Given the description of an element on the screen output the (x, y) to click on. 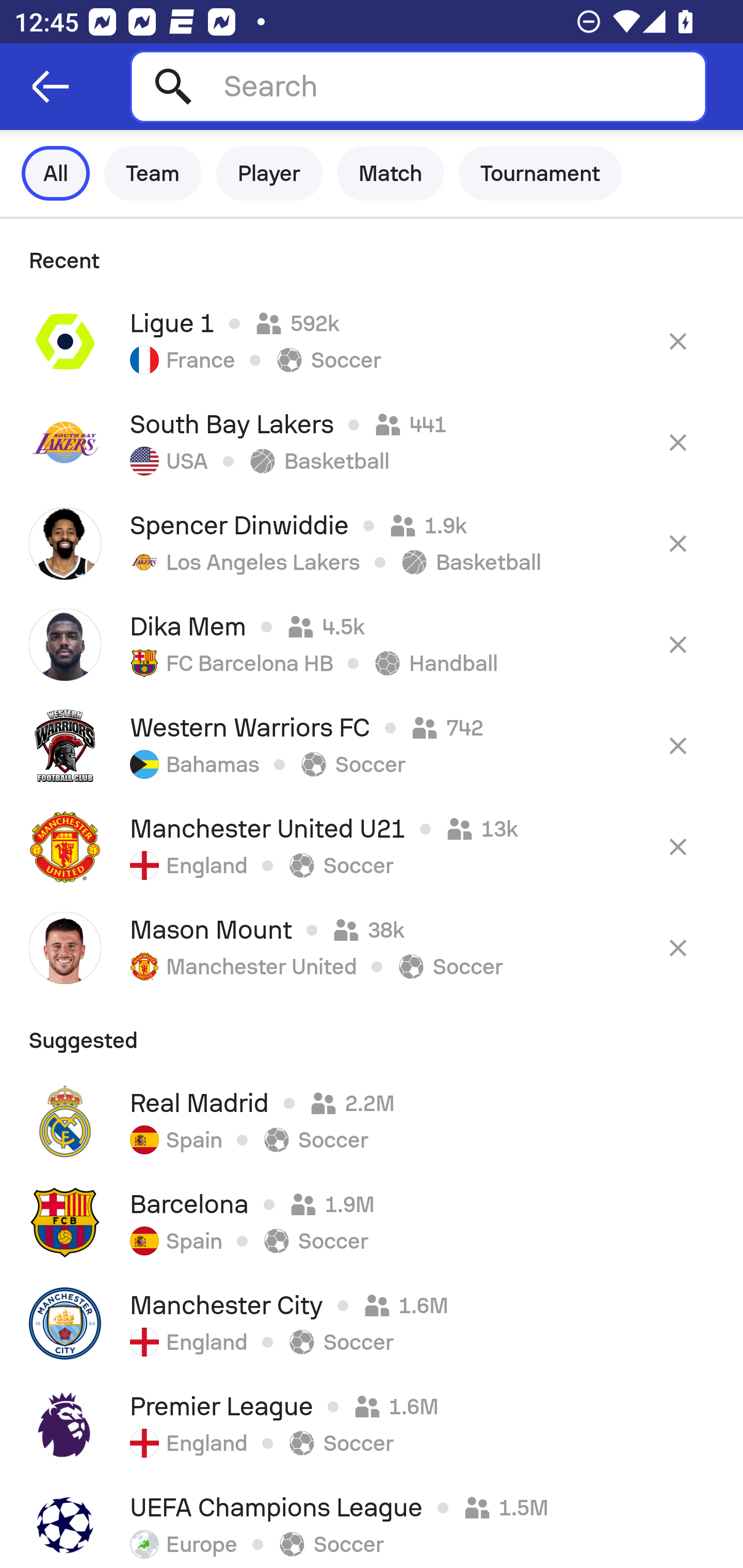
Navigate up (50, 86)
Search (418, 86)
All (55, 172)
Team (152, 172)
Player (268, 172)
Match (390, 172)
Tournament (540, 172)
Recent (371, 254)
Ligue 1 592k France Soccer (371, 341)
South Bay Lakers 441 USA Basketball (371, 442)
Dika Mem 4.5k FC Barcelona HB Handball (371, 644)
Western Warriors FC 742 Bahamas Soccer (371, 745)
Manchester United U21 13k England Soccer (371, 846)
Mason Mount 38k Manchester United Soccer (371, 947)
Suggested (371, 1034)
Real Madrid 2.2M Spain Soccer (371, 1120)
Barcelona 1.9M Spain Soccer (371, 1222)
Manchester City 1.6M England Soccer (371, 1323)
Premier League 1.6M England Soccer (371, 1424)
UEFA Champions League 1.5M Europe Soccer (371, 1521)
